Given the description of an element on the screen output the (x, y) to click on. 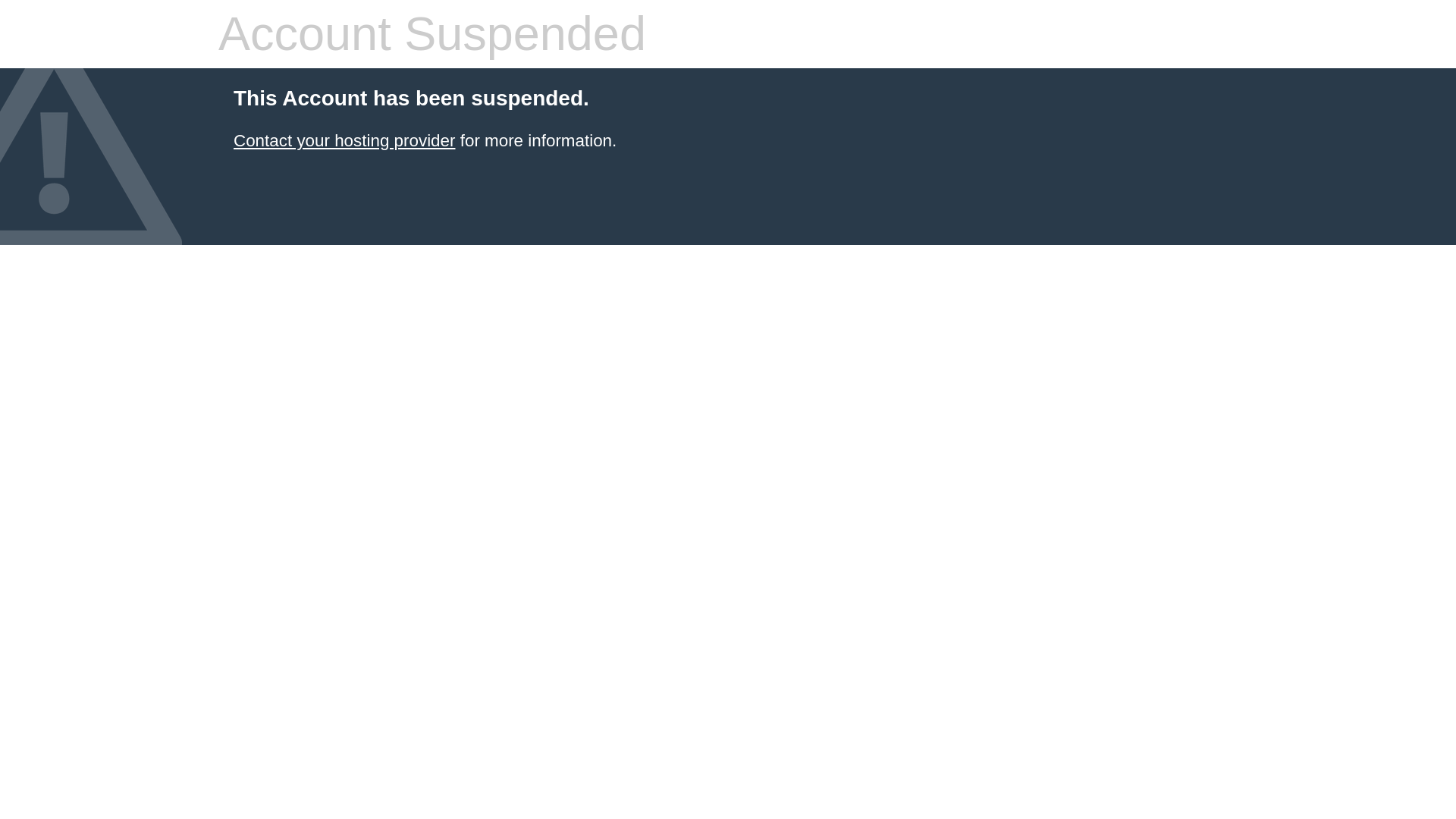
Contact your hosting provider (343, 140)
